Given the description of an element on the screen output the (x, y) to click on. 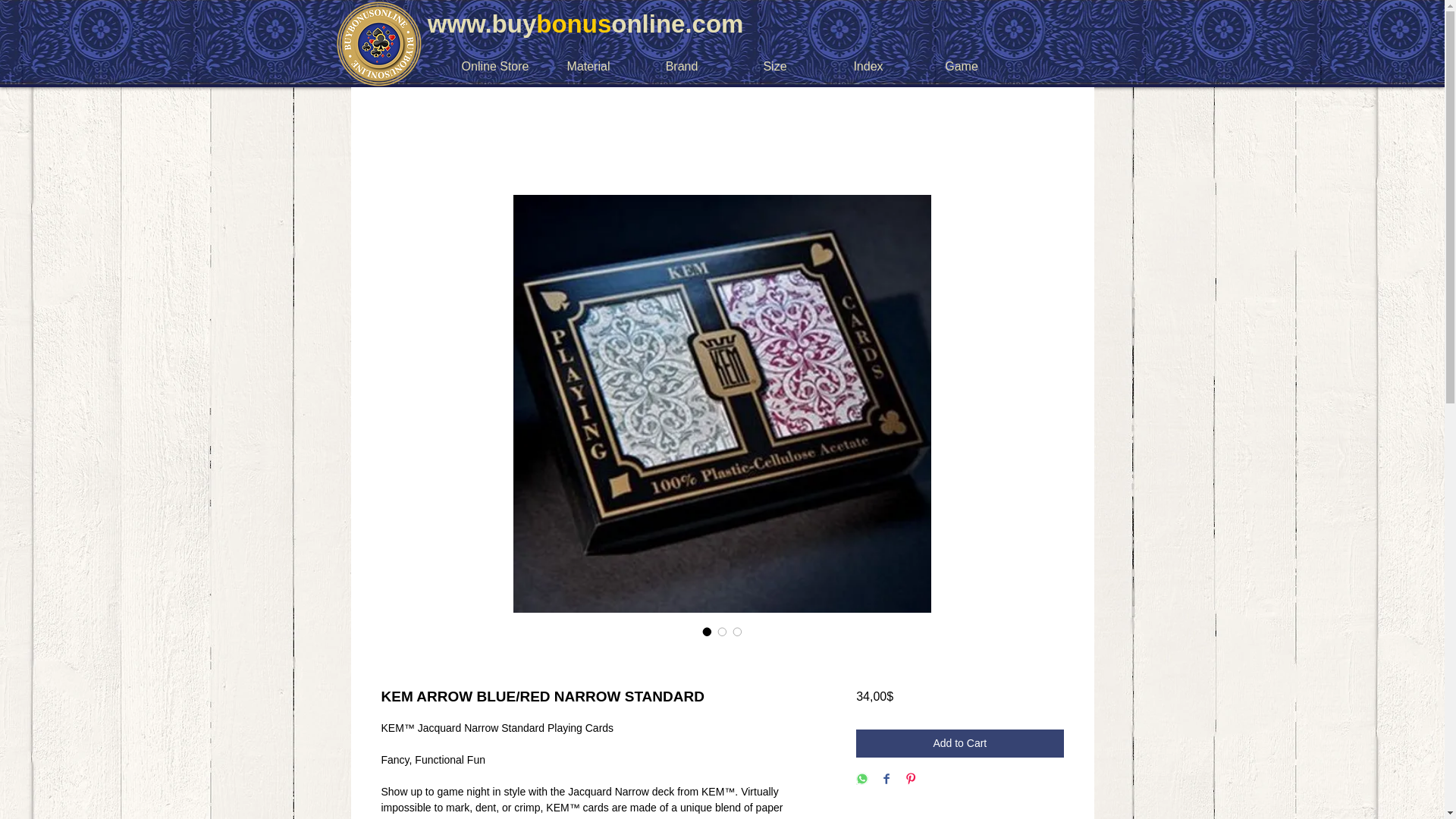
Game (960, 66)
 www.buybonusonline.com (581, 23)
Online Store (494, 66)
Index (868, 66)
Brand (681, 66)
Size (774, 66)
Material (587, 66)
